Given the description of an element on the screen output the (x, y) to click on. 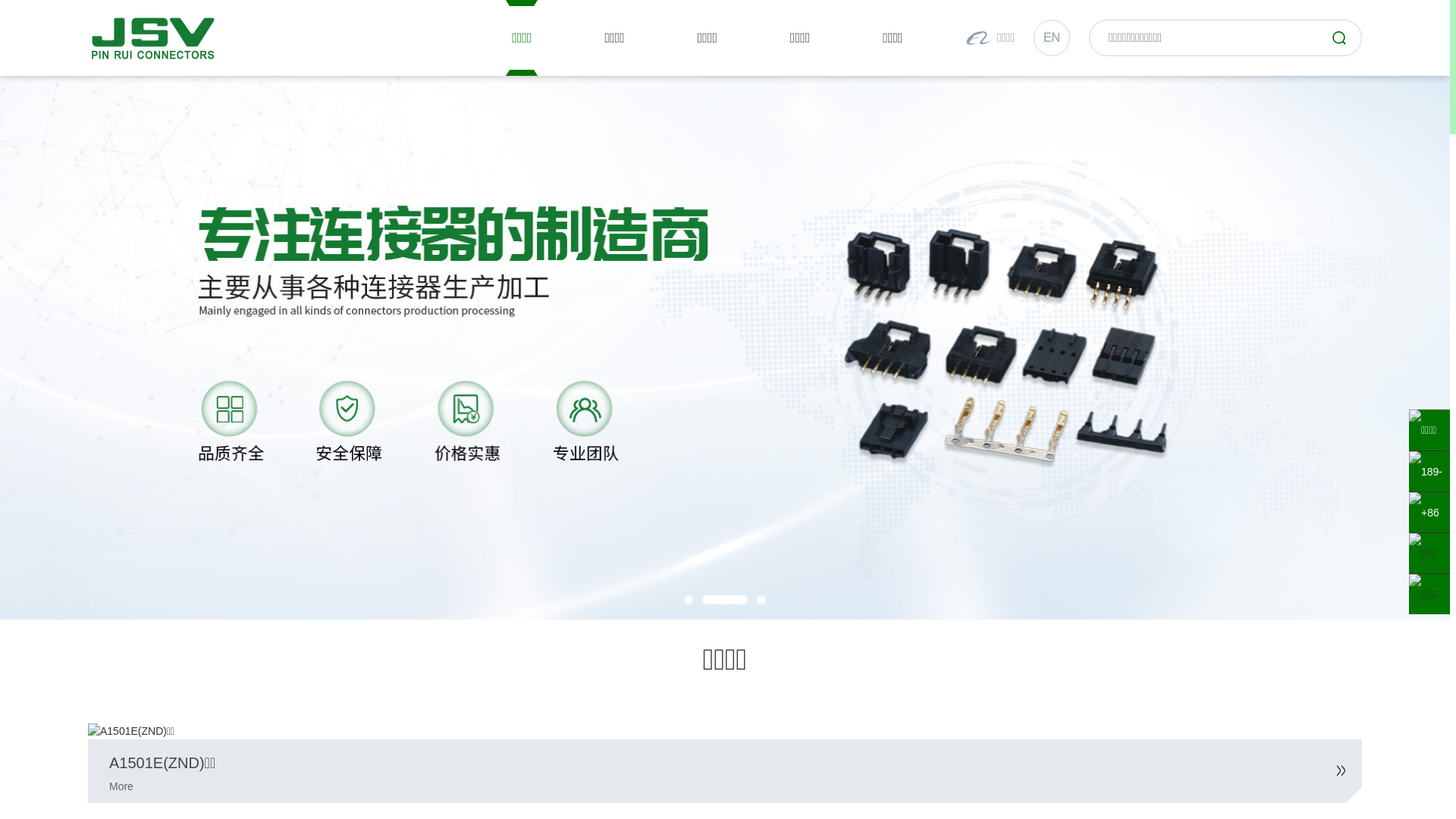
EN Element type: text (1051, 37)
